Given the description of an element on the screen output the (x, y) to click on. 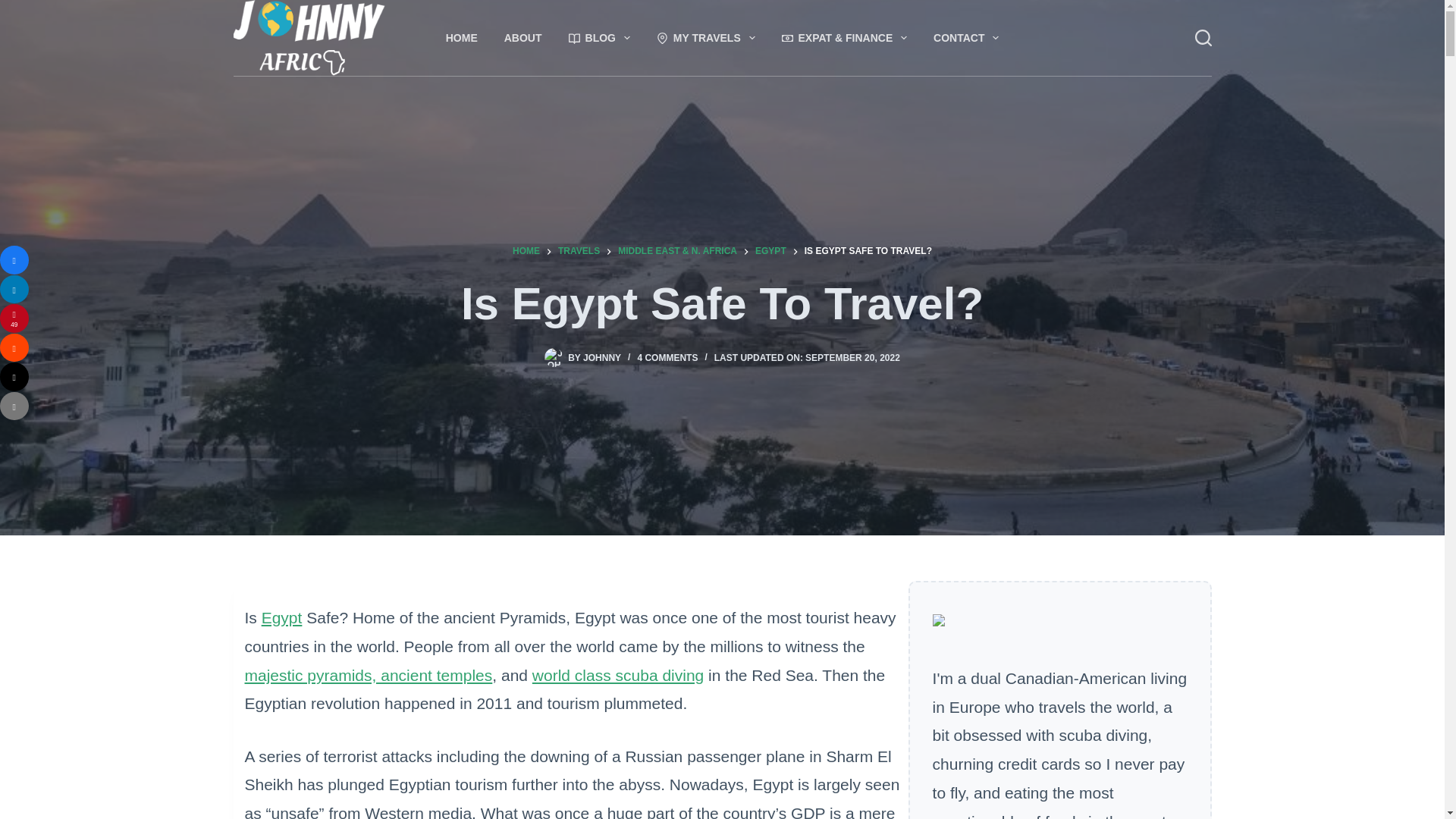
Posts by Johnny (602, 357)
Is Egypt Safe To Travel? (722, 303)
Expatlife (844, 38)
Skip to content (15, 7)
